Given the description of an element on the screen output the (x, y) to click on. 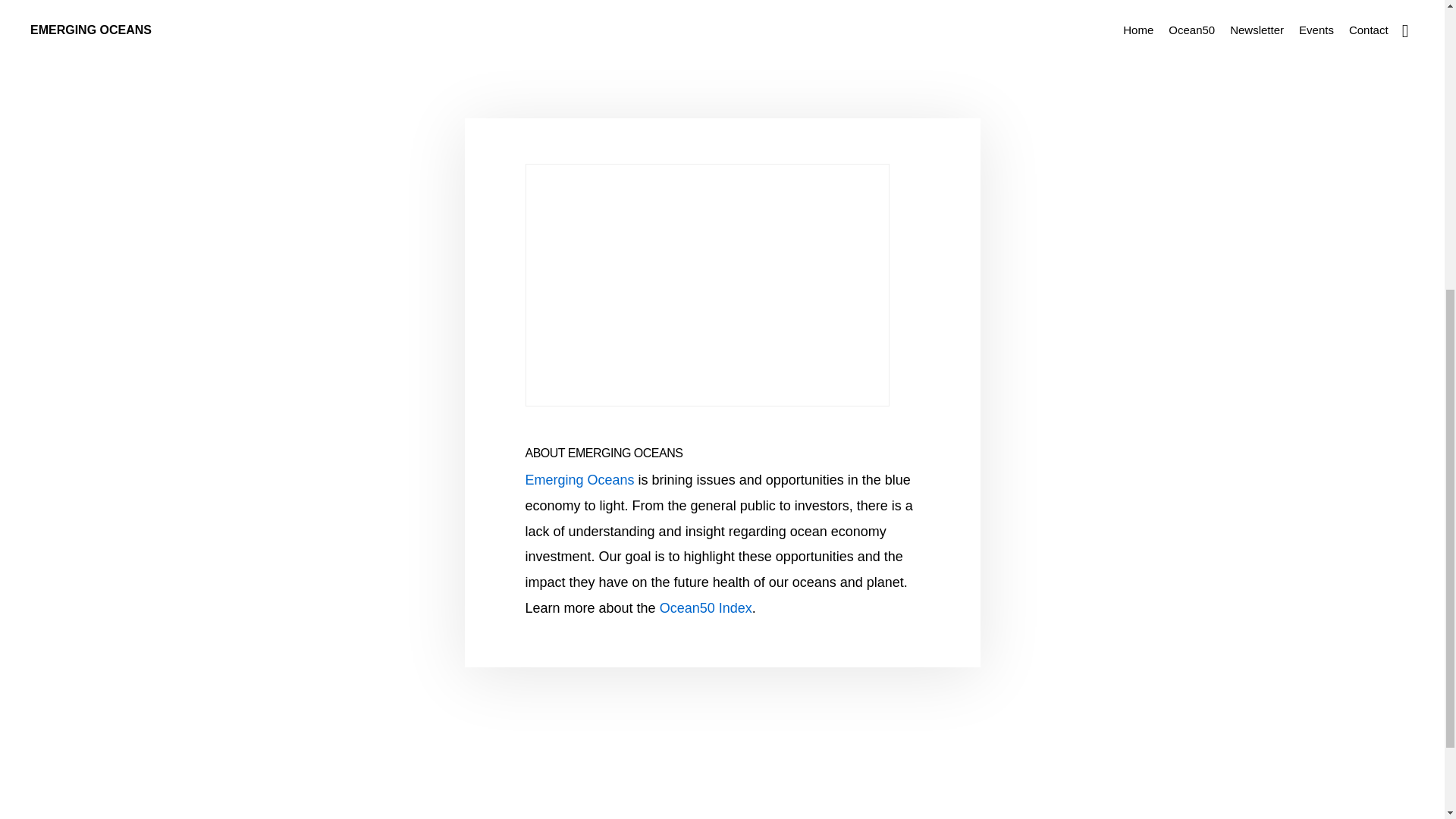
HOME (593, 275)
CONTACT (842, 275)
EVENTS (785, 275)
Ocean50 Index (705, 607)
Emerging Oceans (578, 479)
OCEAN50 (645, 275)
NEWSLETTER (717, 275)
News (489, 30)
